Given the description of an element on the screen output the (x, y) to click on. 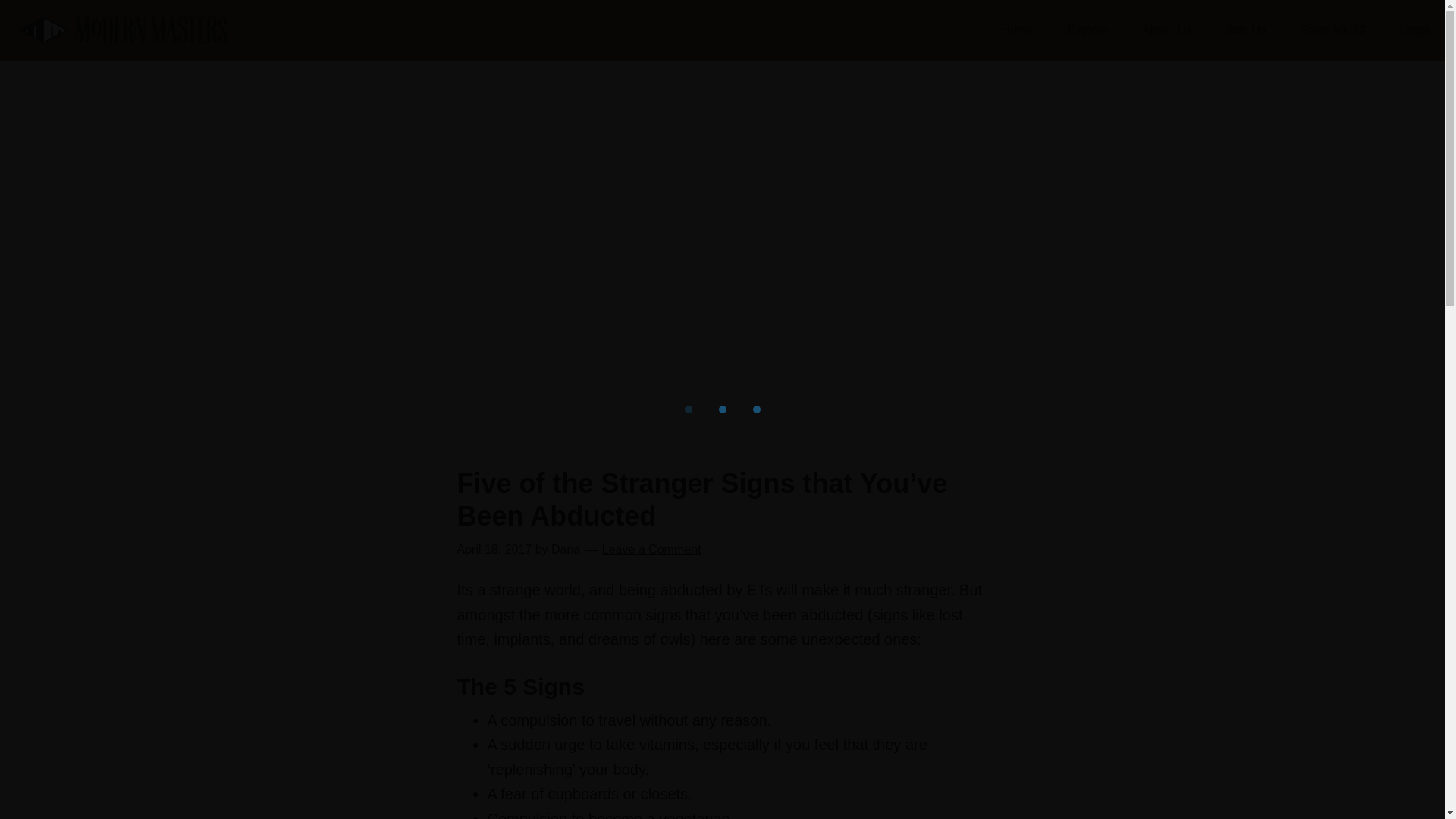
Modern Masters (122, 30)
About Us (1166, 30)
Leave a Comment (651, 549)
Join Us (1245, 30)
Enter MM22 (1332, 30)
Explore (1086, 30)
Home (1016, 30)
